Given the description of an element on the screen output the (x, y) to click on. 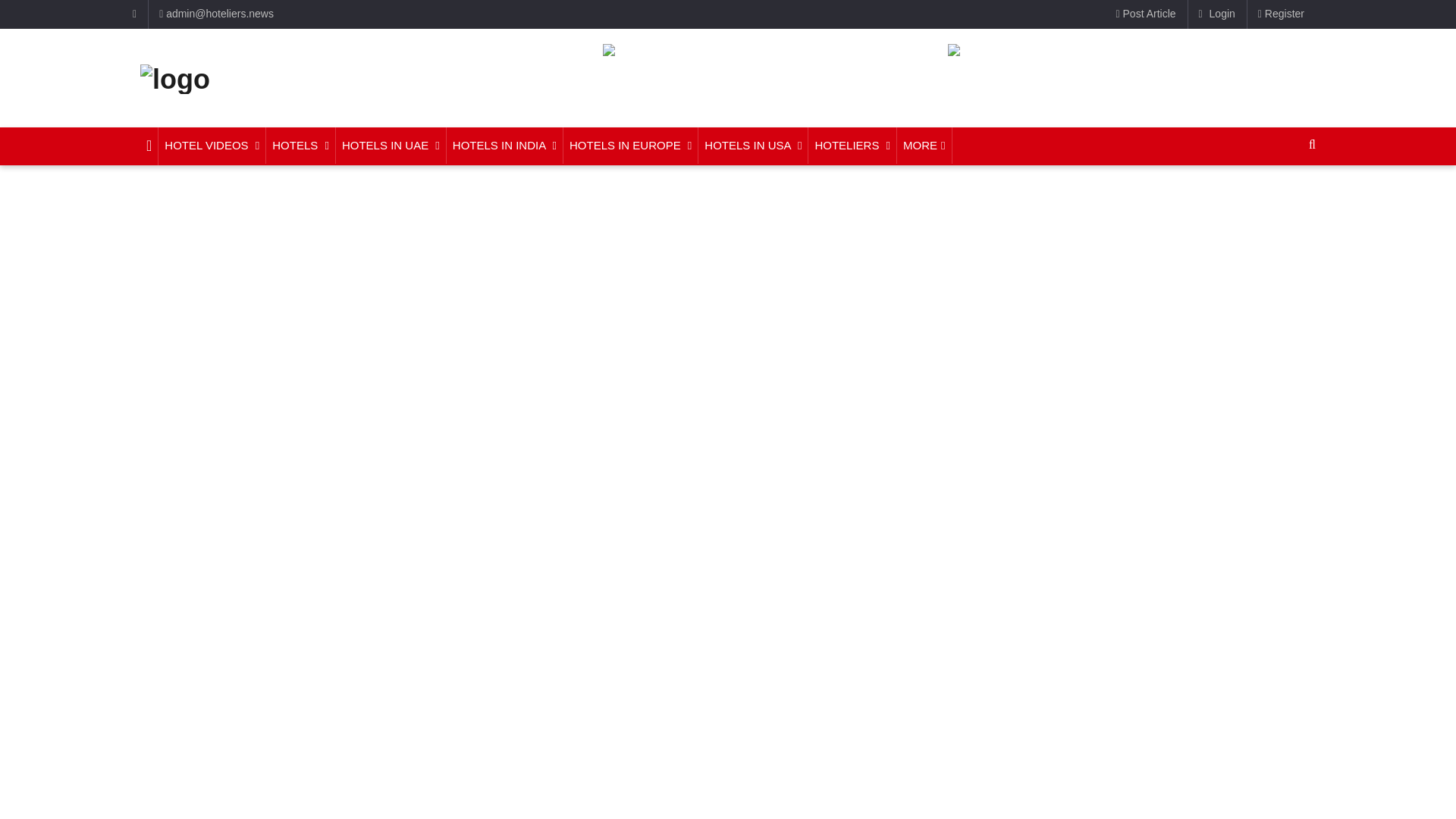
Register (1280, 14)
Post Article (1146, 14)
HOTEL VIDEOS (212, 145)
Login (1216, 14)
HOTELS (301, 145)
